Given the description of an element on the screen output the (x, y) to click on. 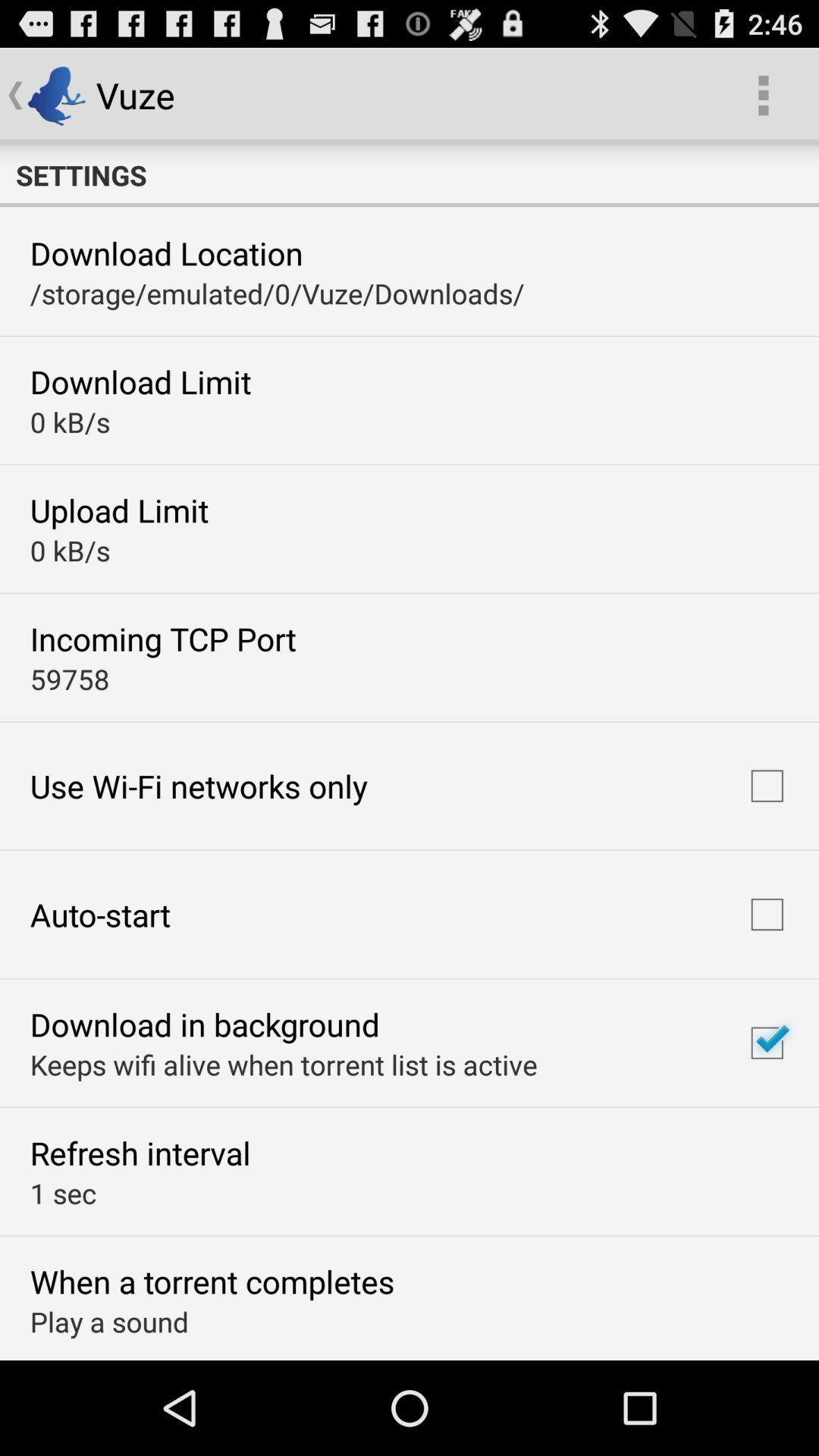
select the download location item (166, 252)
